Given the description of an element on the screen output the (x, y) to click on. 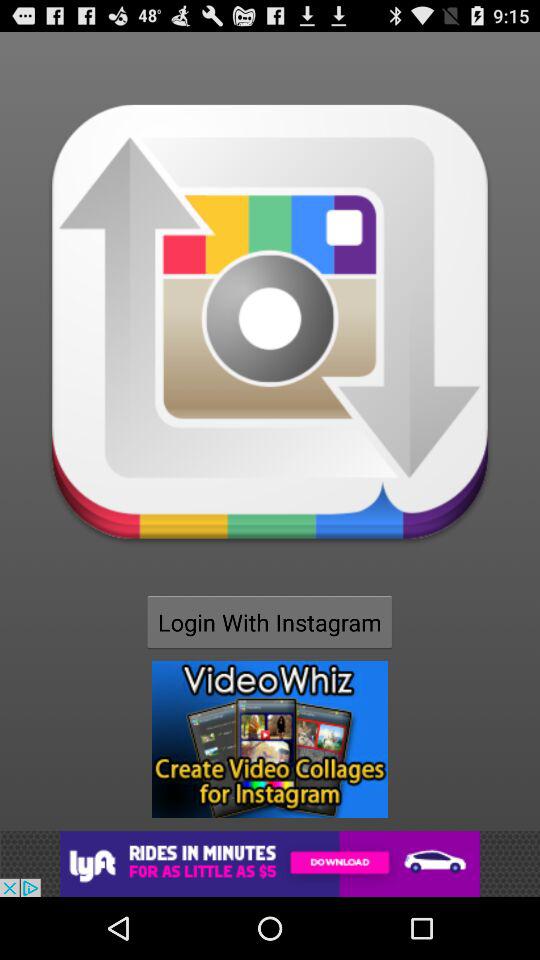
go back (270, 864)
